Given the description of an element on the screen output the (x, y) to click on. 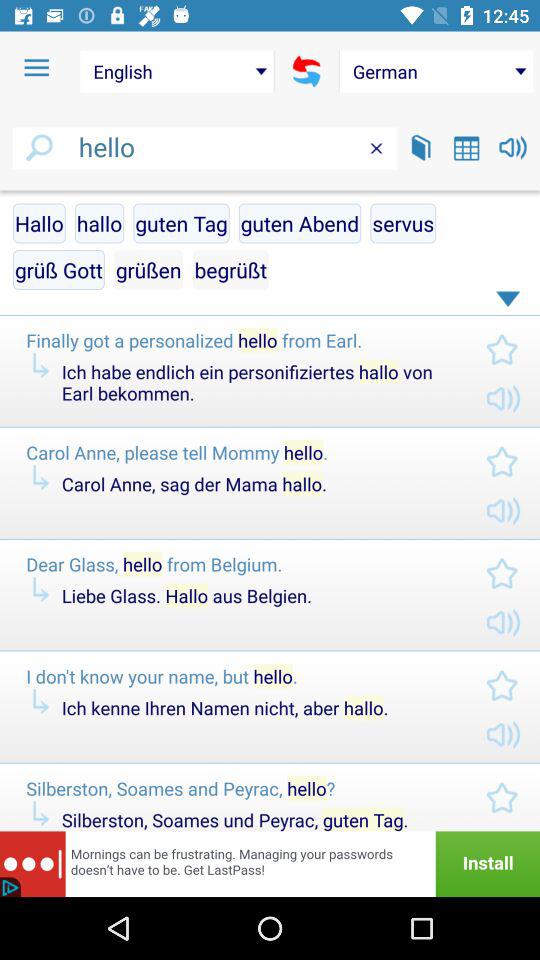
turn on servus (403, 223)
